Given the description of an element on the screen output the (x, y) to click on. 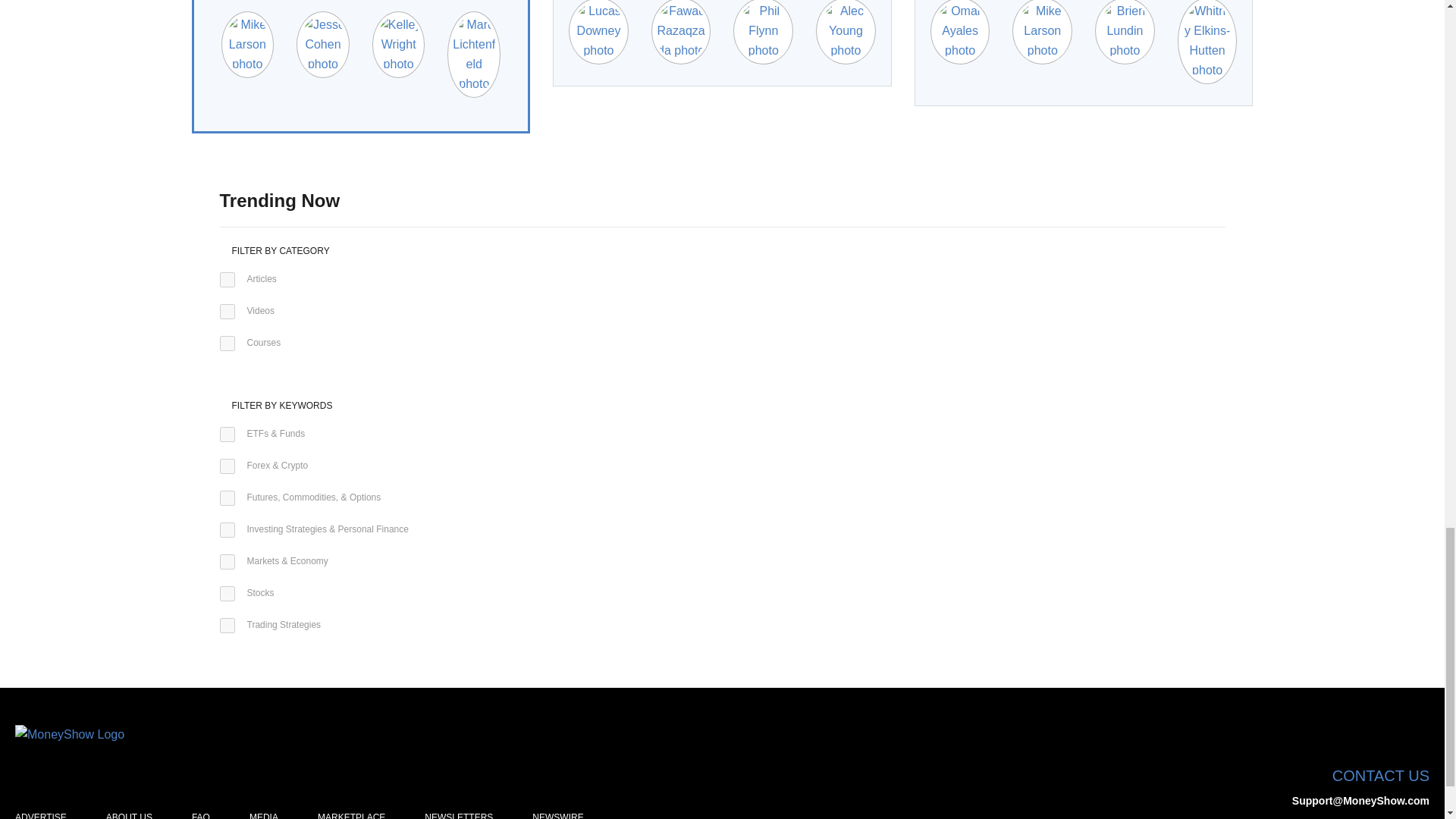
Fawad Razaqzada (680, 29)
Videos (226, 311)
Omar Ayales (960, 29)
Courses (226, 343)
Stocks (226, 593)
Alec Young (845, 29)
Lucas Downey (598, 29)
Mike Larson (1041, 29)
Brien Lundin (1124, 29)
Phil Flynn (763, 29)
